Given the description of an element on the screen output the (x, y) to click on. 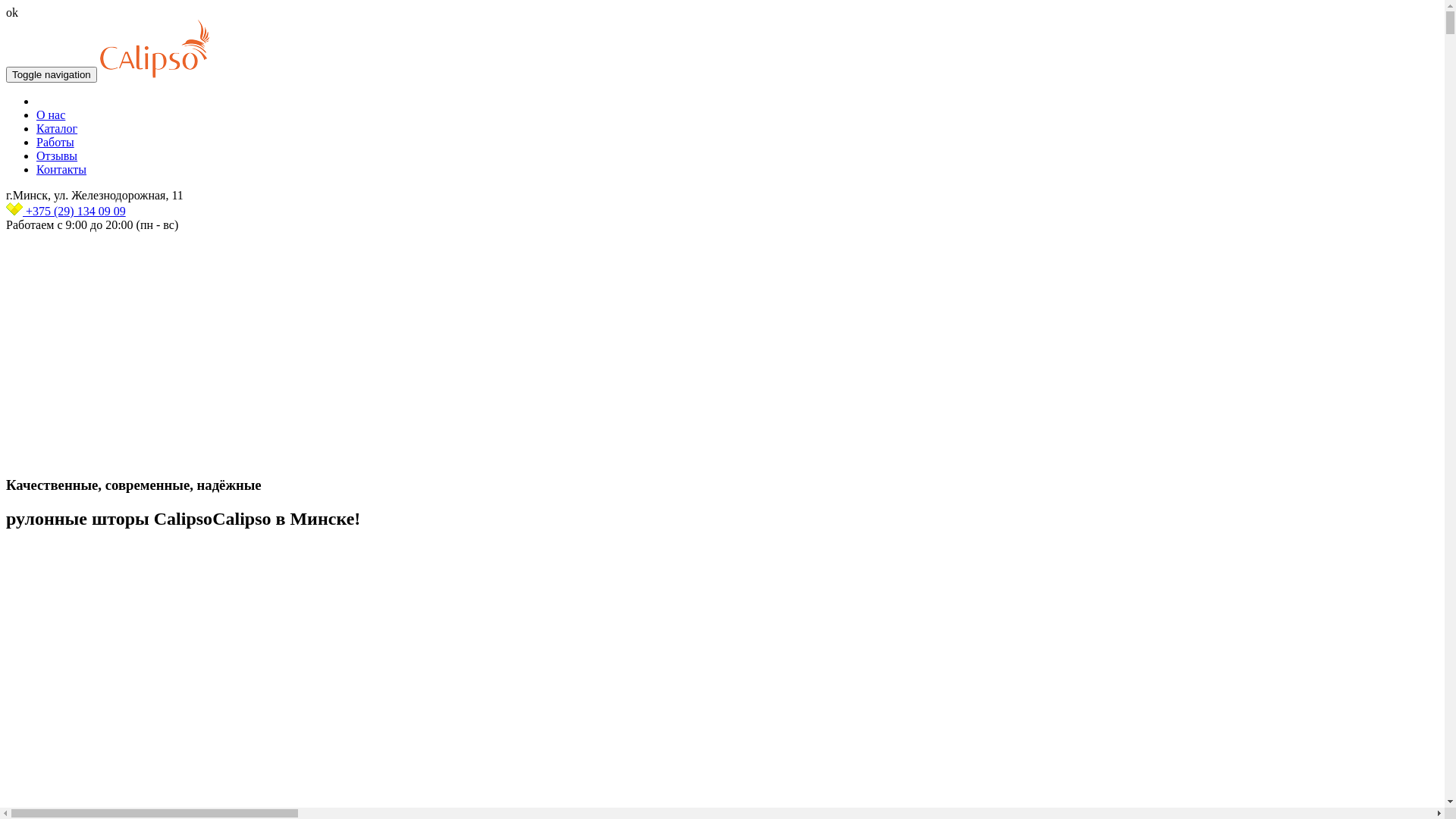
 +375 (29) 134 09 09 Element type: text (65, 210)
Toggle navigation Element type: text (51, 74)
ok Element type: text (12, 12)
